Given the description of an element on the screen output the (x, y) to click on. 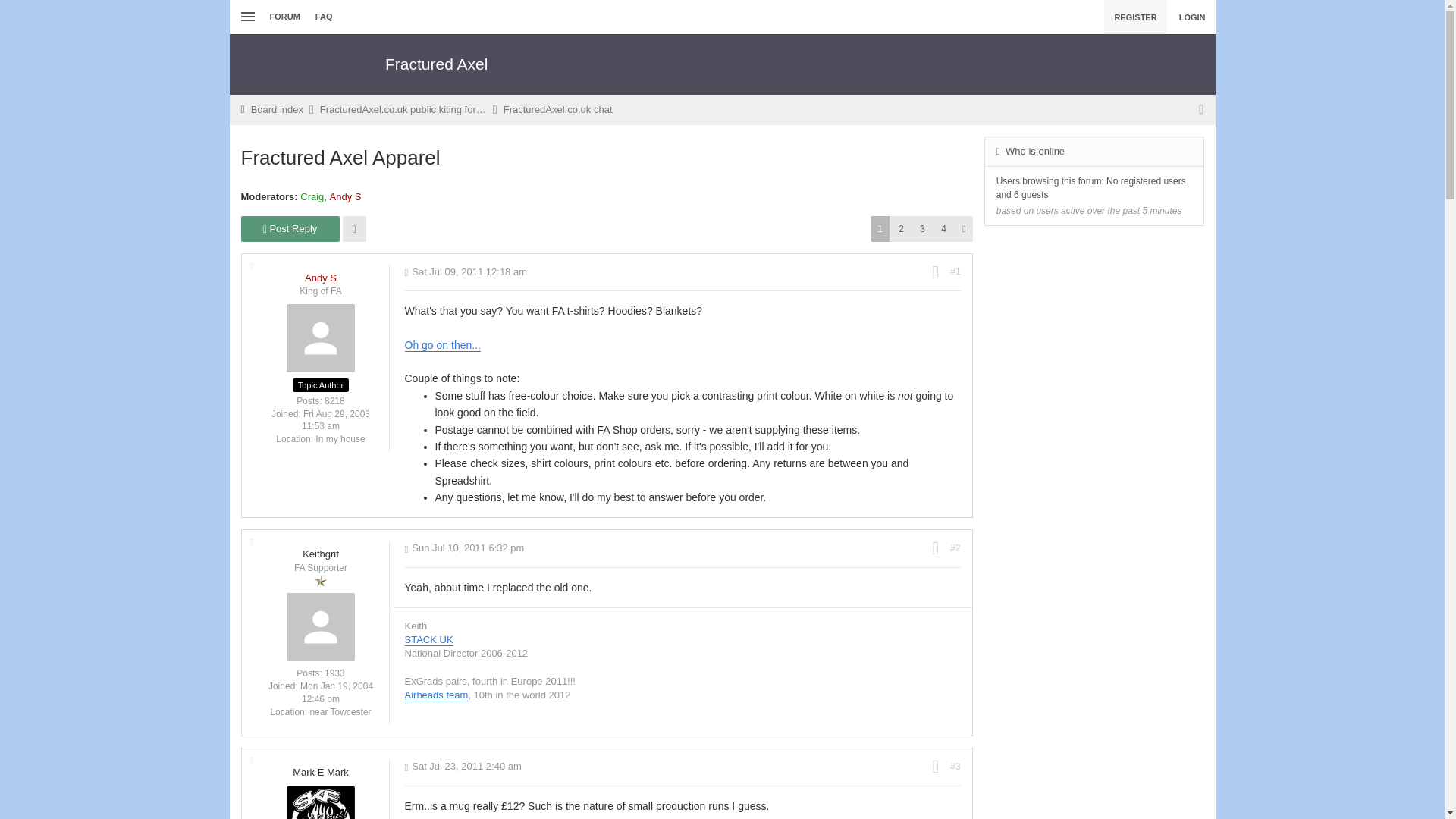
LOGIN (1191, 17)
REGISTER (1134, 17)
Fractured Axel (436, 63)
FracturedAxel.co.uk public kiting forums (403, 110)
Jump to (1201, 110)
Frequently Asked Questions (323, 17)
FracturedAxel.co.uk chat (557, 110)
Topic tools (354, 228)
Login (1101, 161)
FracturedAxel.co.uk chat (557, 110)
Login (1191, 17)
Board index (276, 110)
FracturedAxel.co.uk public kiting forums (403, 110)
FAQ (323, 17)
Board index (276, 110)
